Given the description of an element on the screen output the (x, y) to click on. 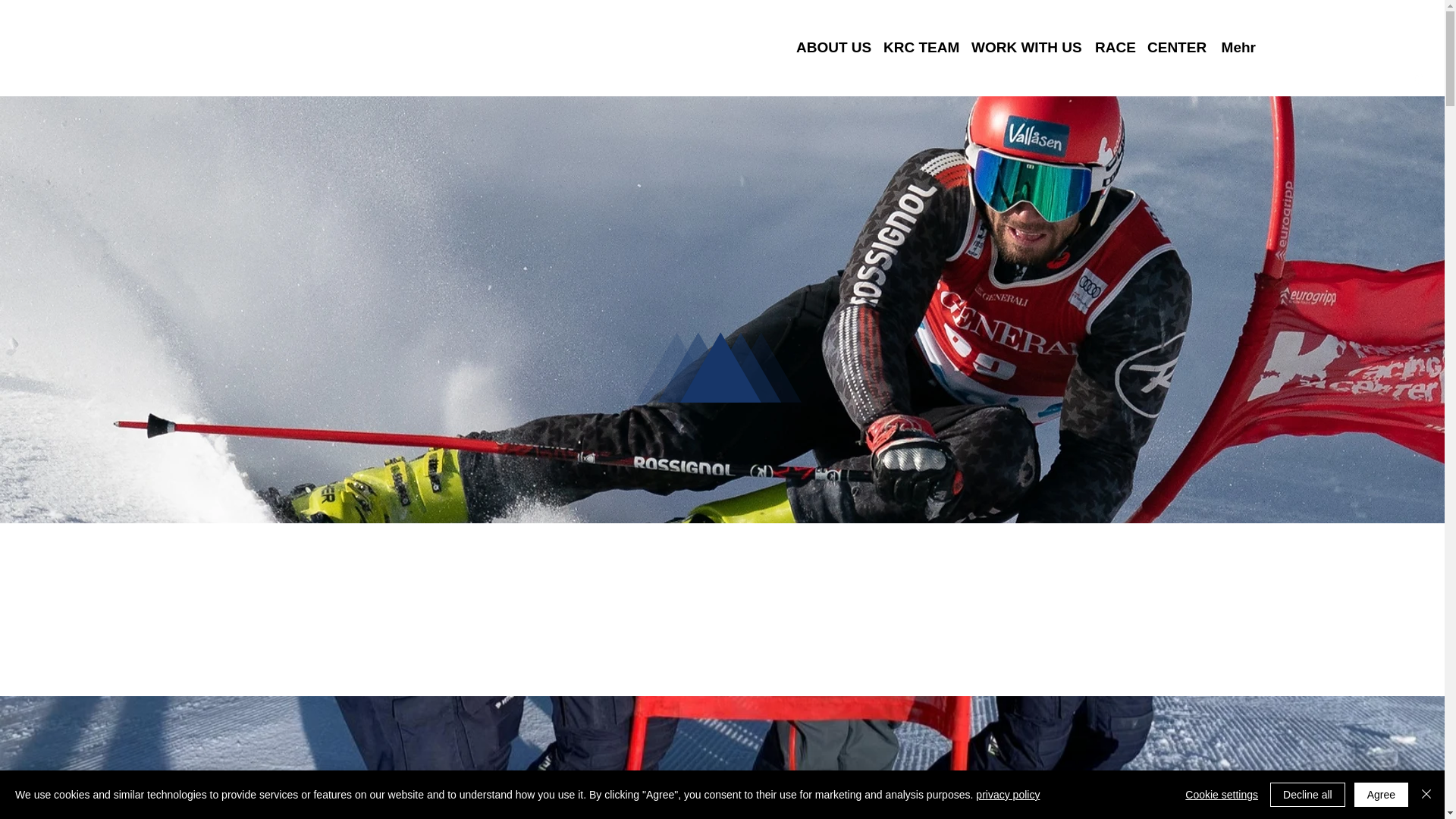
ABOUT US (832, 47)
WORK WITH US (1025, 47)
KRC TEAM (919, 47)
CENTER (1174, 47)
privacy policy (1007, 794)
RACE (1113, 47)
